Given the description of an element on the screen output the (x, y) to click on. 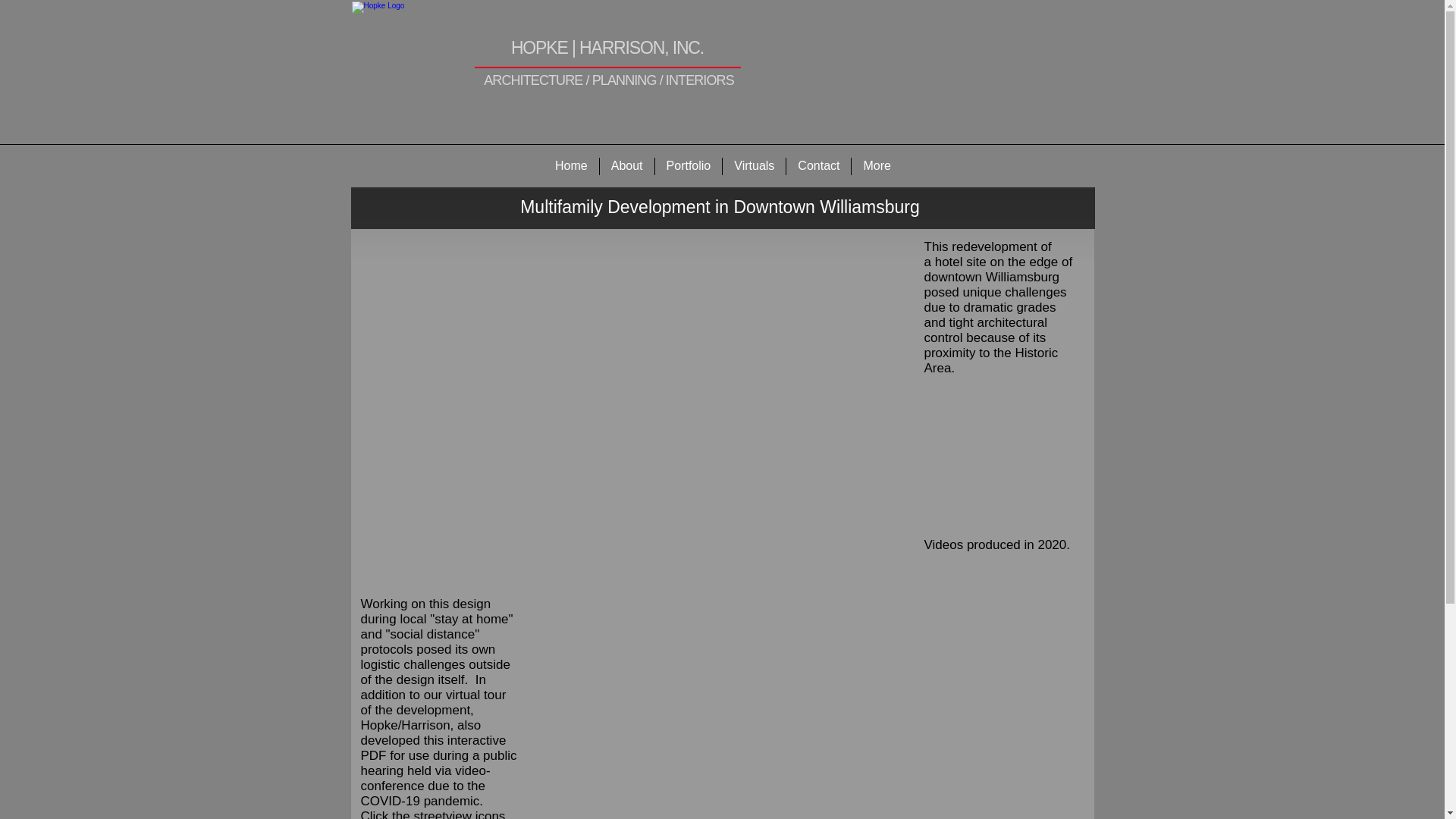
Virtuals (754, 166)
Portfolio (688, 166)
Contact (818, 166)
About (626, 166)
Home (570, 166)
